Given the description of an element on the screen output the (x, y) to click on. 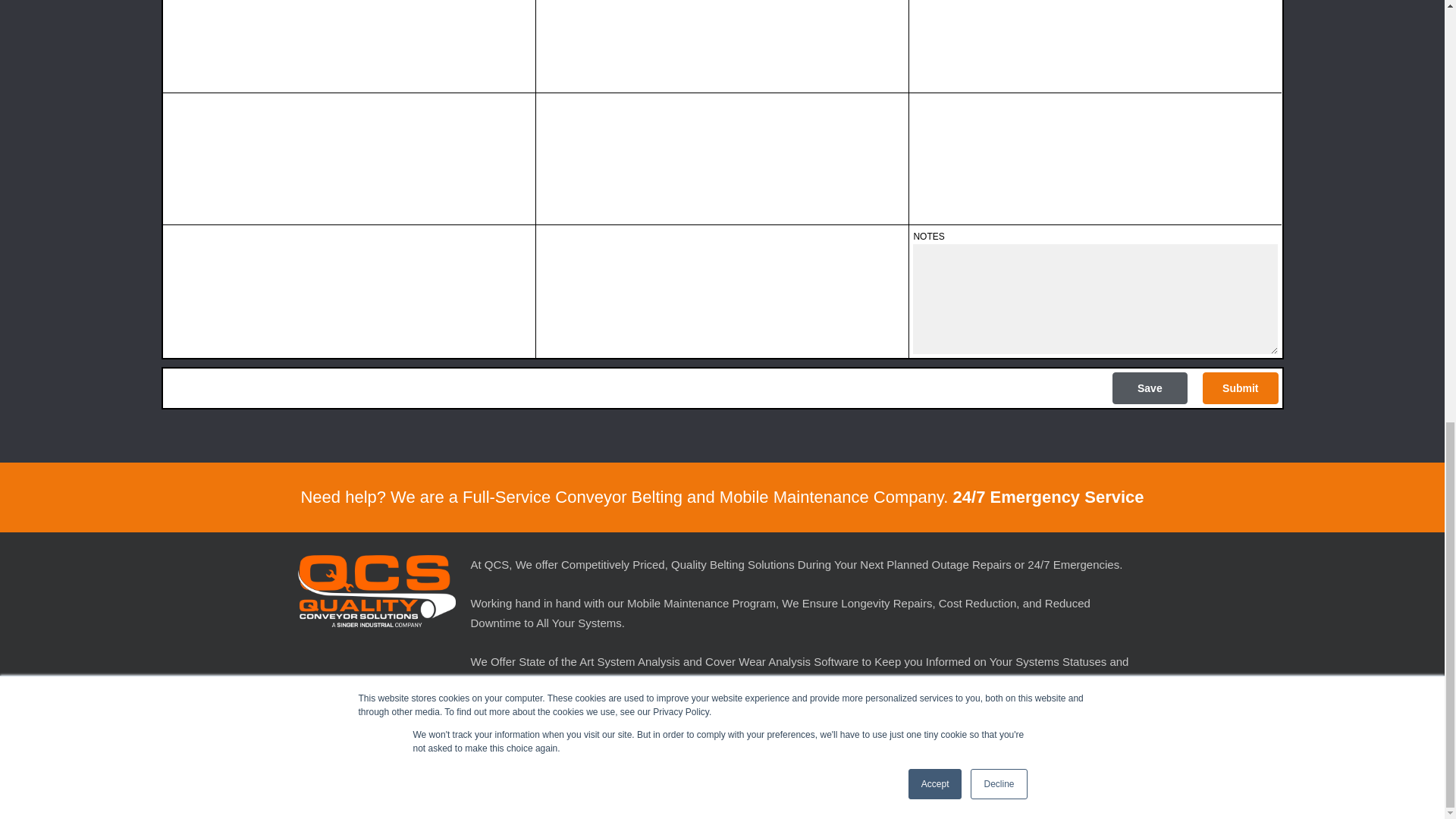
Report Cost Savings Event (361, 765)
Submit (1240, 388)
Save (1150, 388)
